Given the description of an element on the screen output the (x, y) to click on. 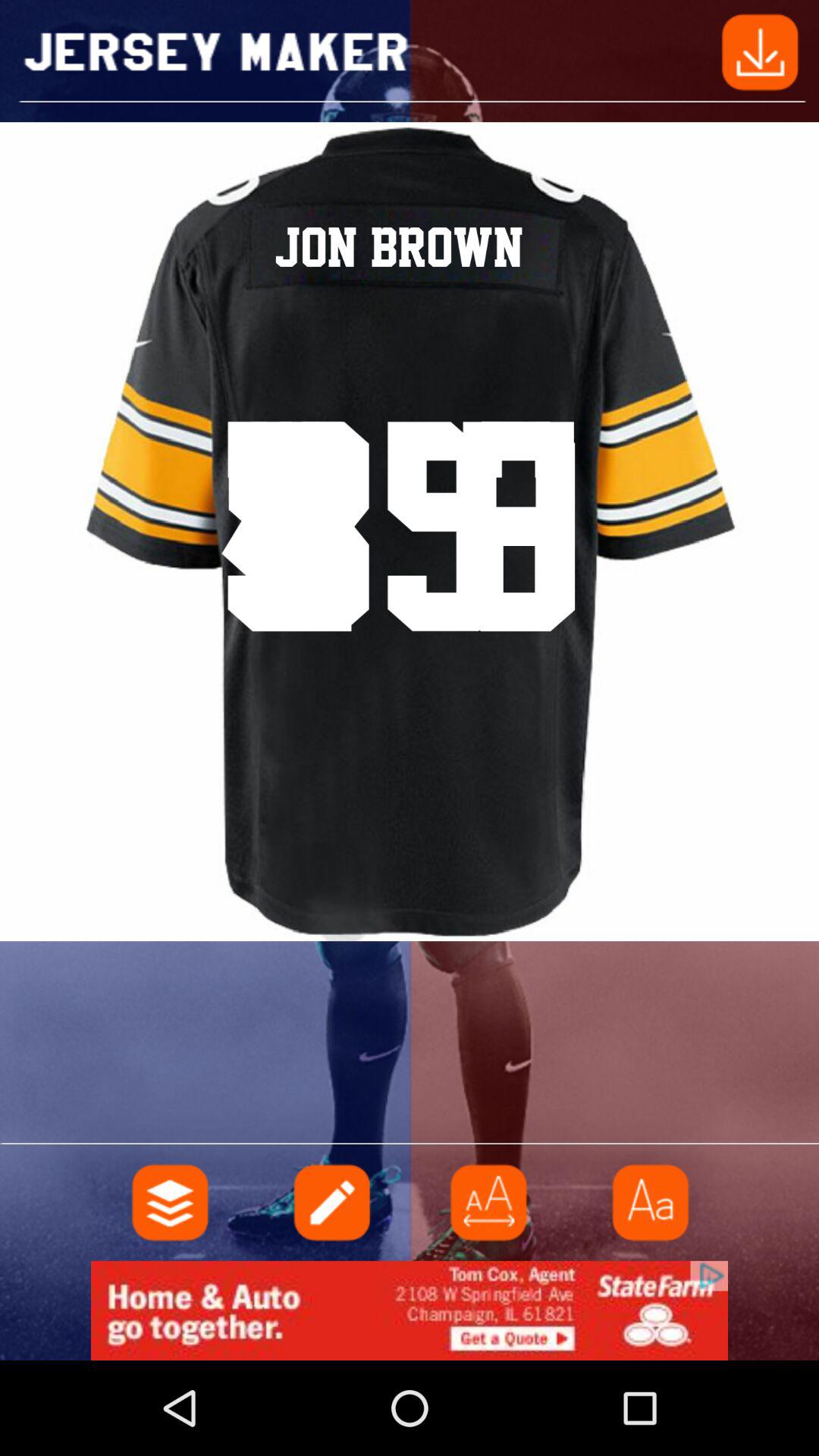
go to advertisement (488, 1202)
